Given the description of an element on the screen output the (x, y) to click on. 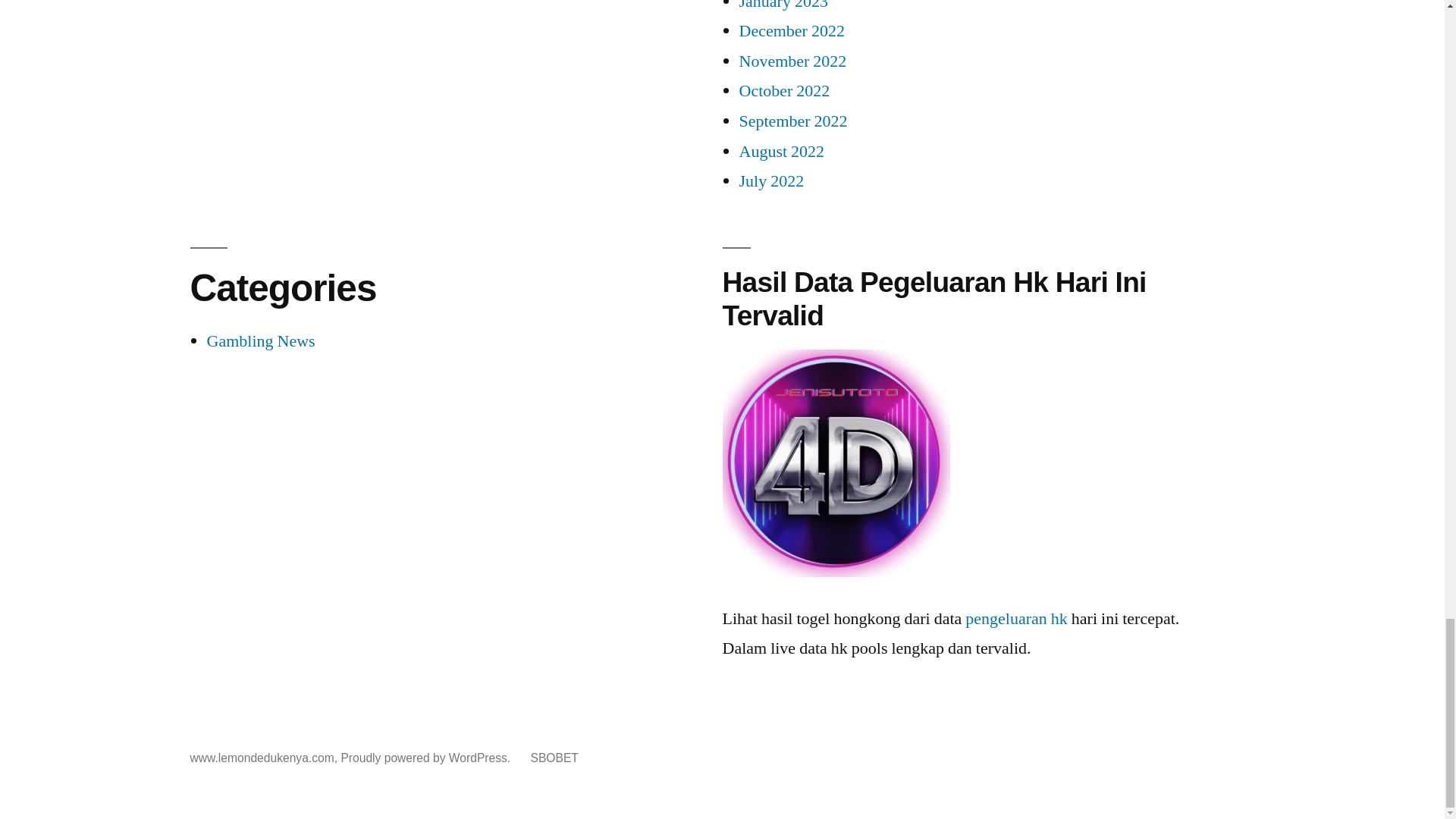
November 2022 (791, 61)
October 2022 (783, 90)
pengeluaran hk (835, 463)
January 2023 (782, 6)
December 2022 (791, 30)
